Given the description of an element on the screen output the (x, y) to click on. 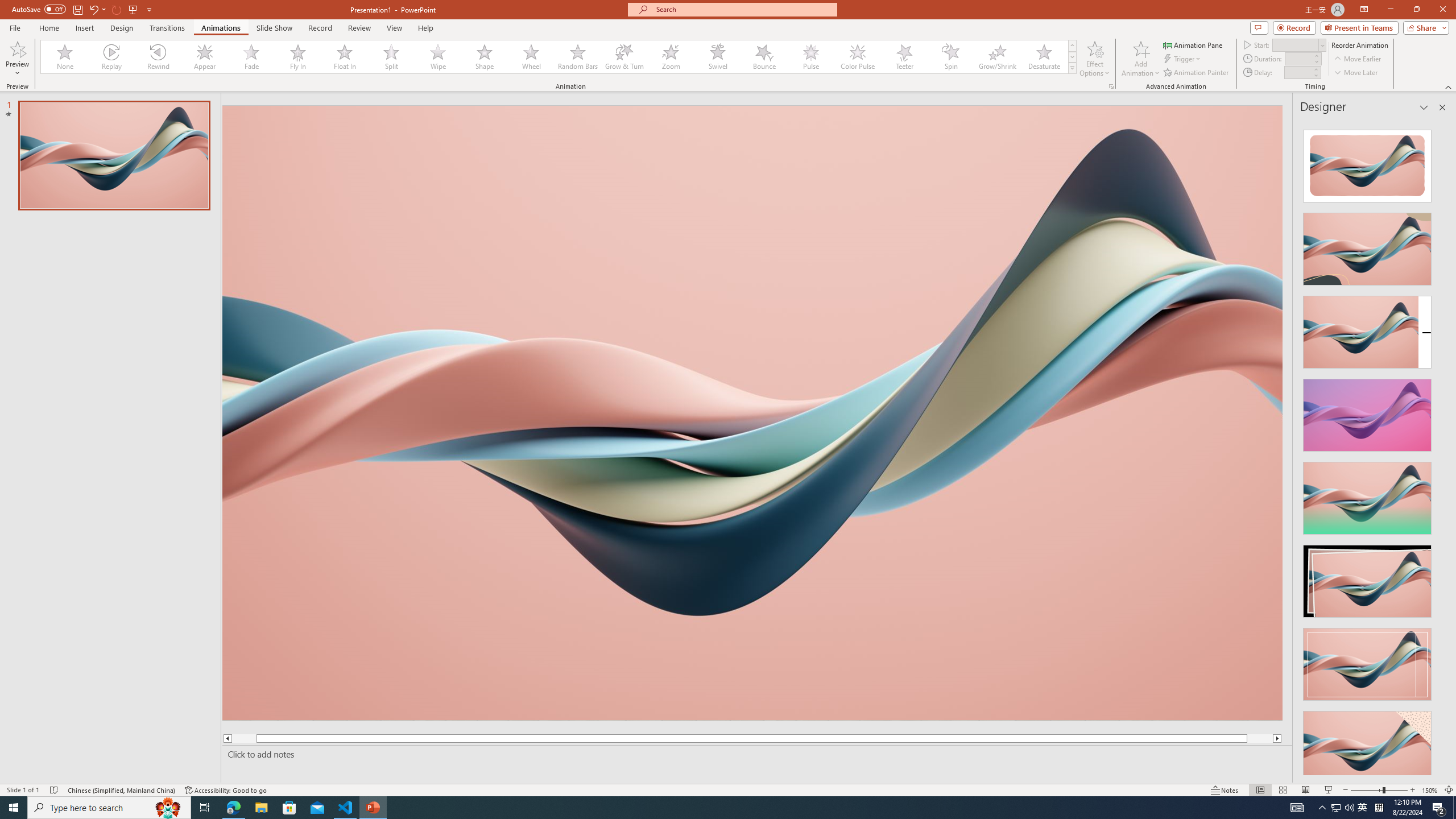
Add Animation (1141, 58)
Wavy 3D art (752, 412)
Wheel (531, 56)
Animation Duration (1298, 58)
